Given the description of an element on the screen output the (x, y) to click on. 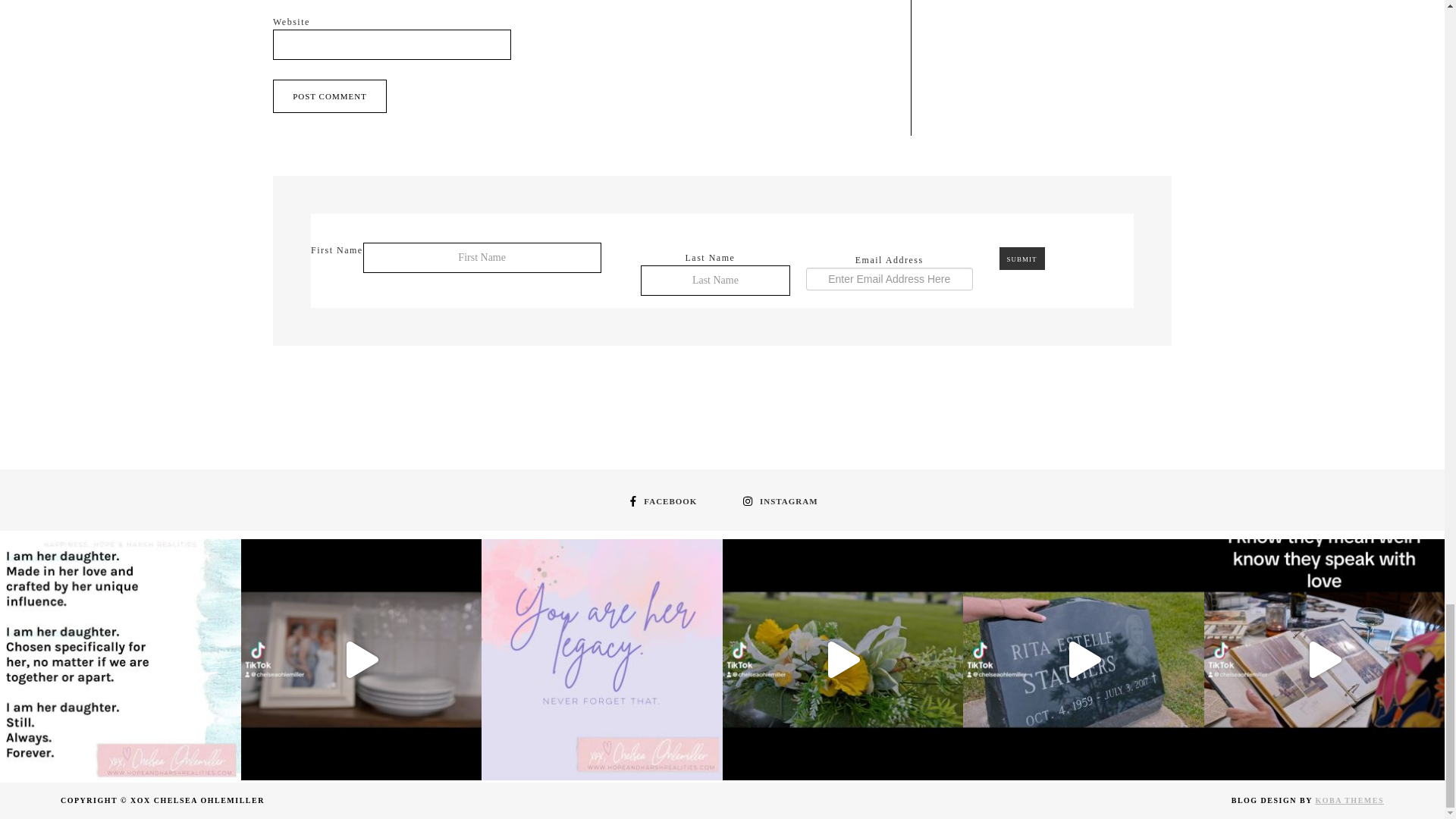
Submit (1021, 258)
Submit (1021, 258)
Post Comment (330, 96)
FACEBOOK (661, 500)
Post Comment (330, 96)
INSTAGRAM (778, 500)
